Given the description of an element on the screen output the (x, y) to click on. 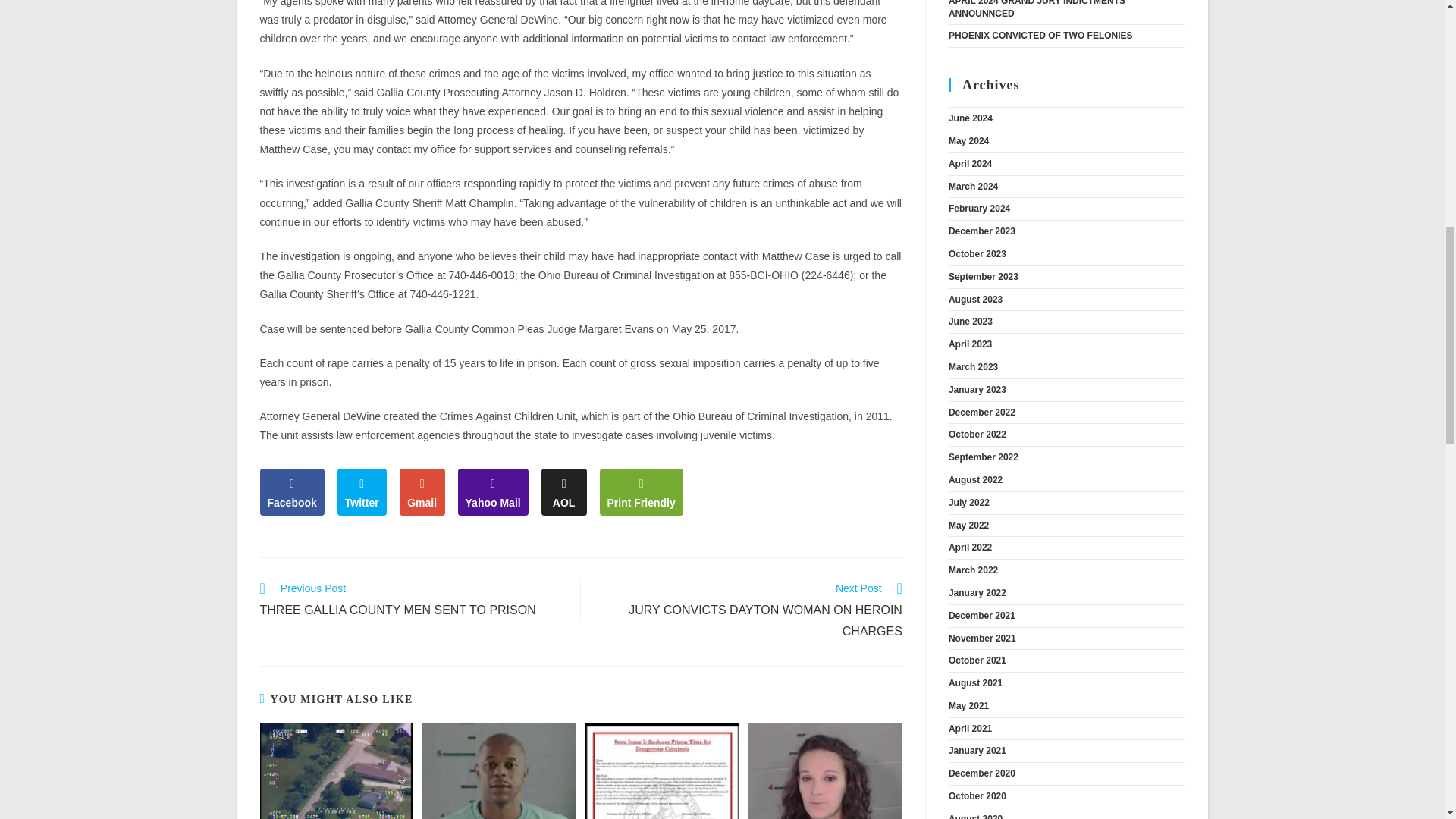
Yahoo Mail (493, 491)
AOL (563, 491)
Print Friendly (640, 491)
Gmail (748, 611)
Twitter (421, 491)
Facebook (411, 600)
